Given the description of an element on the screen output the (x, y) to click on. 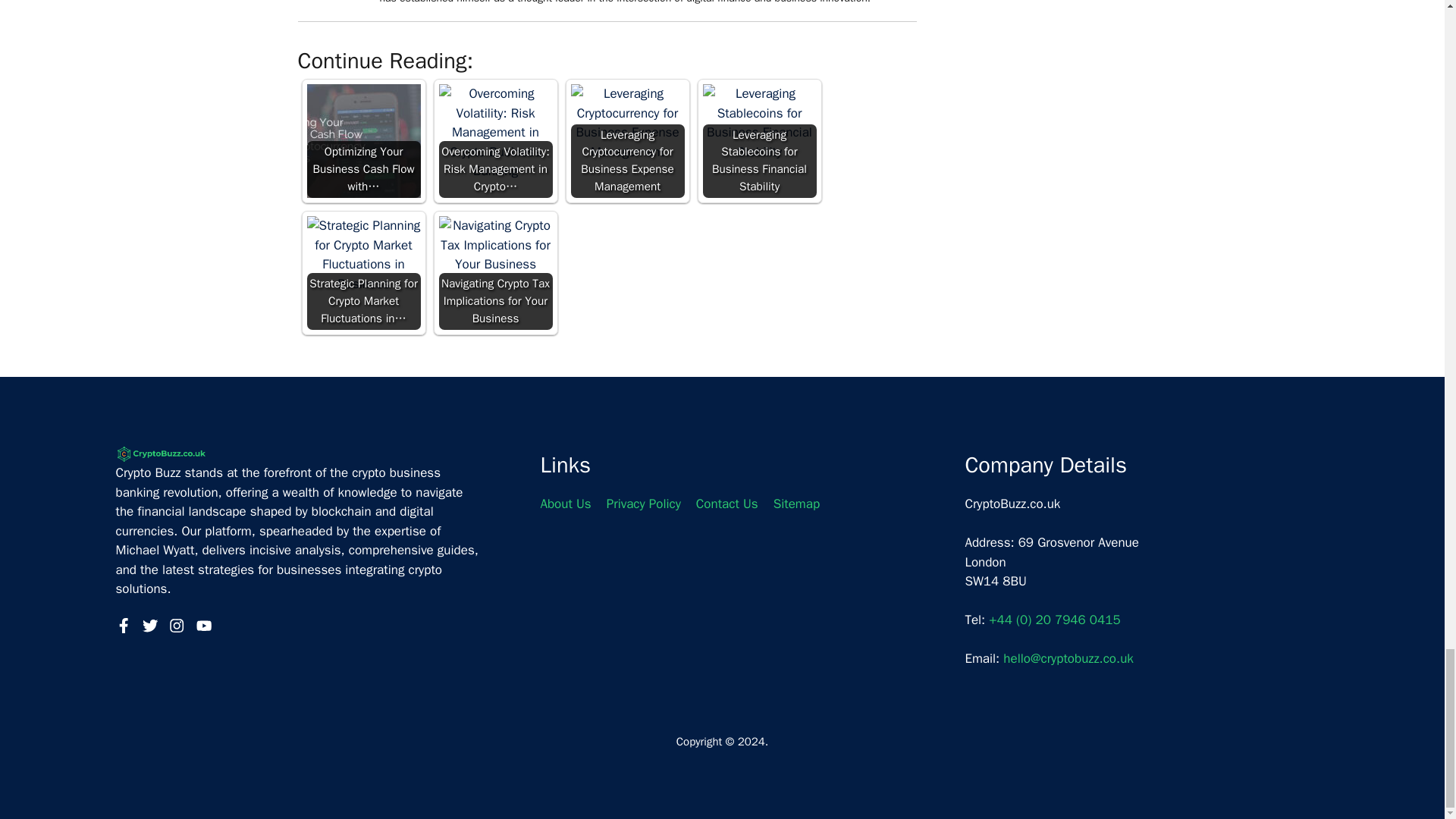
Leveraging Stablecoins for Business Financial Stability (758, 122)
Leveraging Cryptocurrency for Business Expense Management (627, 122)
Navigating Crypto Tax Implications for Your Business (494, 245)
